Given the description of an element on the screen output the (x, y) to click on. 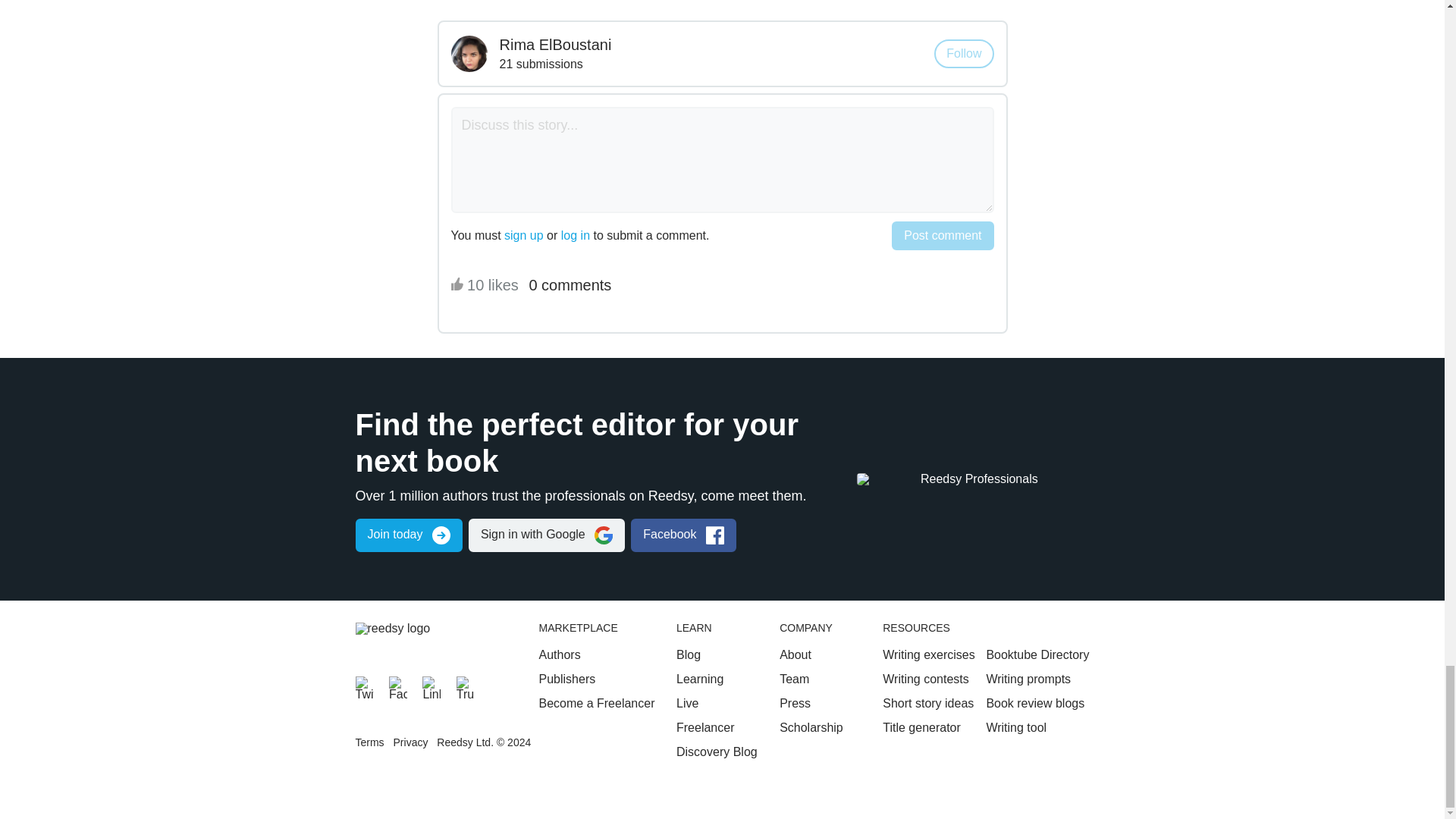
Sign up (408, 535)
Sign in with Facebook (683, 535)
Twitter (363, 685)
Sign in with Google (546, 535)
Post comment (941, 235)
Trustpilot (465, 685)
LinkedIn (431, 685)
Facebook (397, 685)
